Given the description of an element on the screen output the (x, y) to click on. 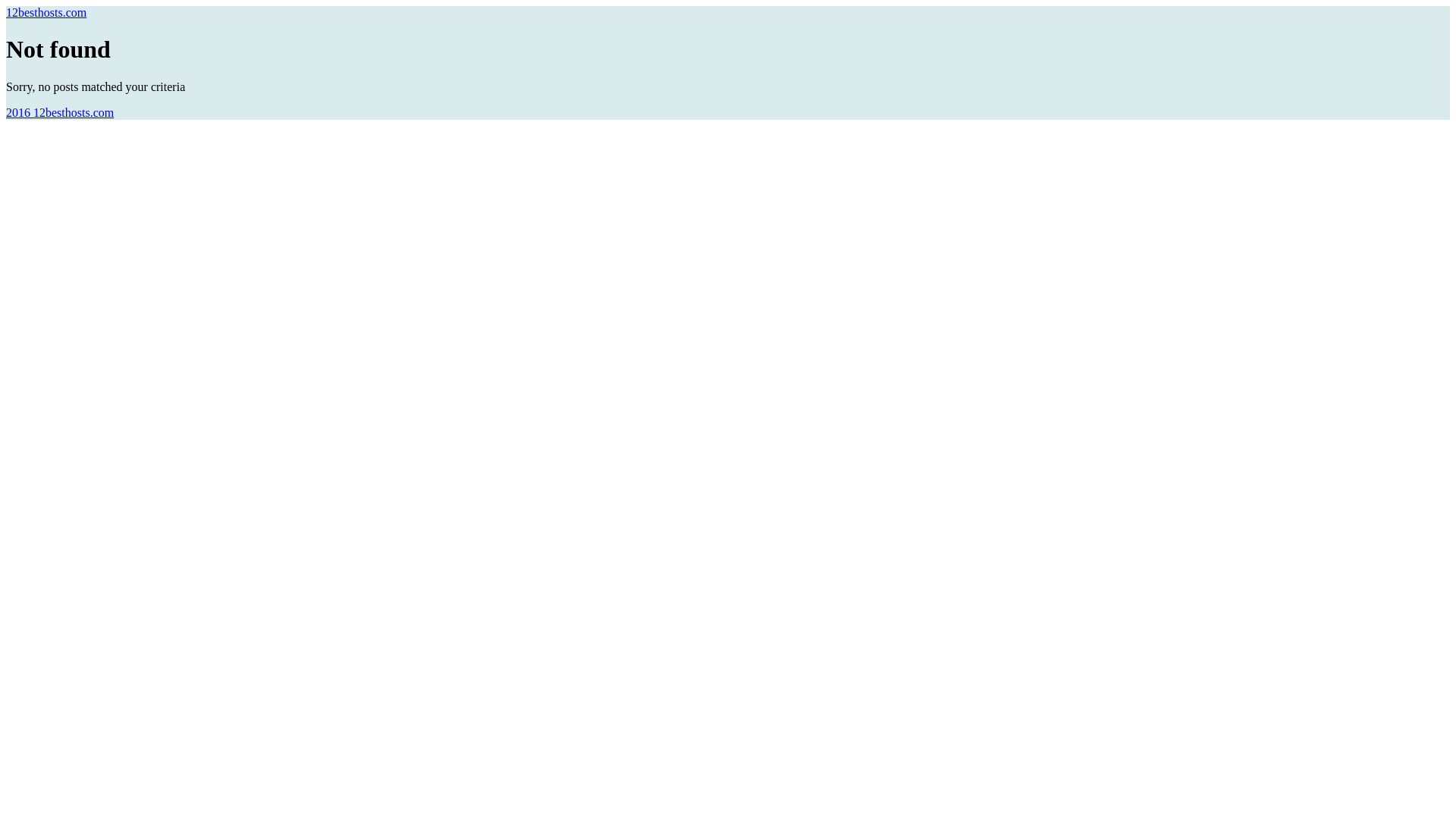
2016 12besthosts.com Element type: text (59, 112)
12besthosts.com Element type: text (46, 12)
